Given the description of an element on the screen output the (x, y) to click on. 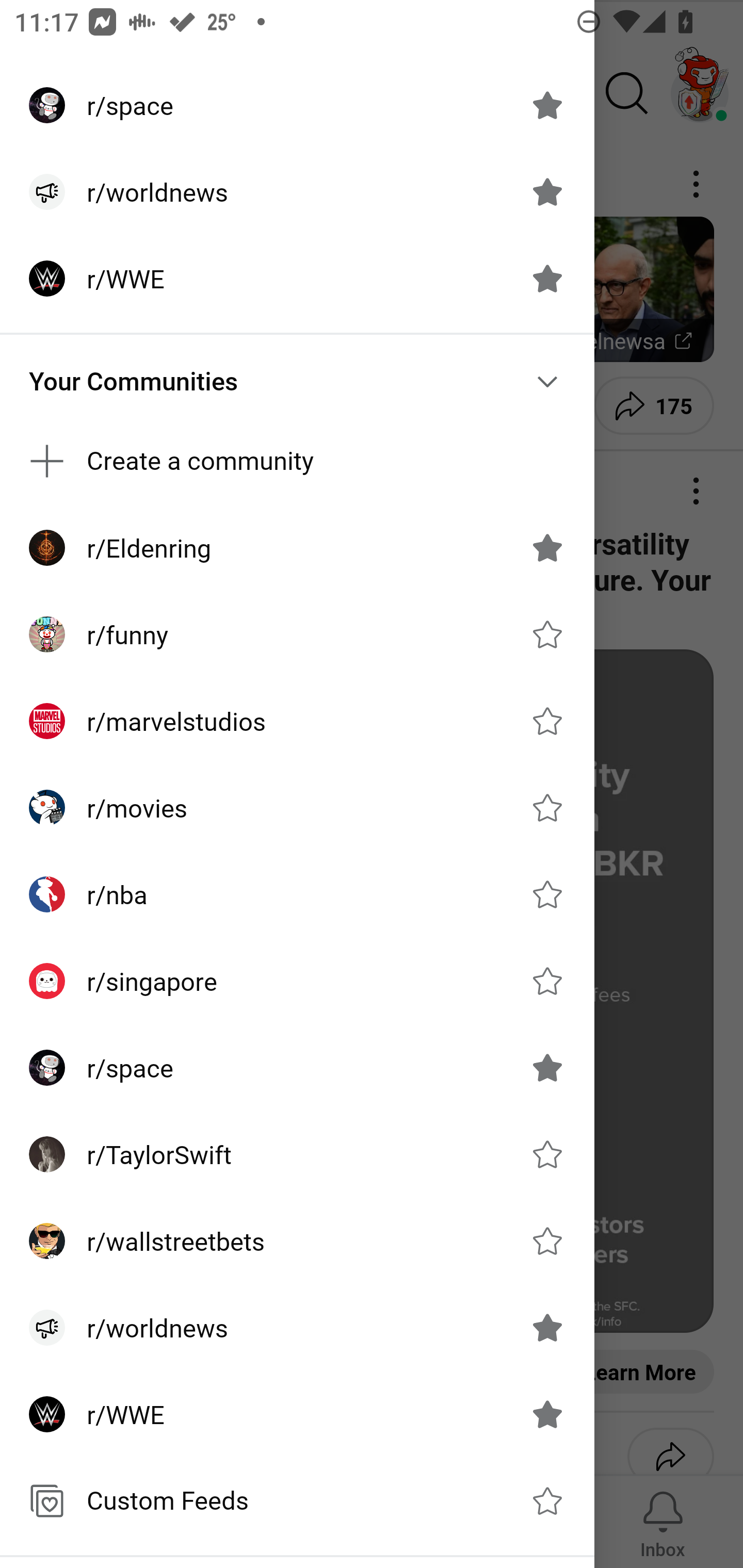
r/space Unfavorite r/space (297, 104)
Unfavorite r/space (546, 104)
r/worldnews Unfavorite r/worldnews (297, 191)
Unfavorite r/worldnews (546, 192)
r/WWE Unfavorite r/WWE (297, 278)
Unfavorite r/WWE (546, 278)
Your Communities (297, 380)
Create a community (297, 460)
r/Eldenring Unfavorite r/Eldenring (297, 547)
Unfavorite r/Eldenring (546, 548)
r/funny Favorite r/funny (297, 634)
Favorite r/funny (546, 634)
r/marvelstudios Favorite r/marvelstudios (297, 721)
Favorite r/marvelstudios (546, 721)
r/movies Favorite r/movies (297, 808)
Favorite r/movies (546, 807)
r/nba Favorite r/nba (297, 894)
Favorite r/nba (546, 894)
r/singapore Favorite r/singapore (297, 980)
Favorite r/singapore (546, 980)
r/space Unfavorite r/space (297, 1067)
Unfavorite r/space (546, 1067)
r/TaylorSwift Favorite r/TaylorSwift (297, 1154)
Favorite r/TaylorSwift (546, 1154)
r/wallstreetbets Favorite r/wallstreetbets (297, 1240)
Favorite r/wallstreetbets (546, 1241)
r/worldnews Unfavorite r/worldnews (297, 1327)
Unfavorite r/worldnews (546, 1327)
r/WWE Unfavorite r/WWE (297, 1414)
Unfavorite r/WWE (546, 1414)
Custom Feeds (297, 1501)
